Given the description of an element on the screen output the (x, y) to click on. 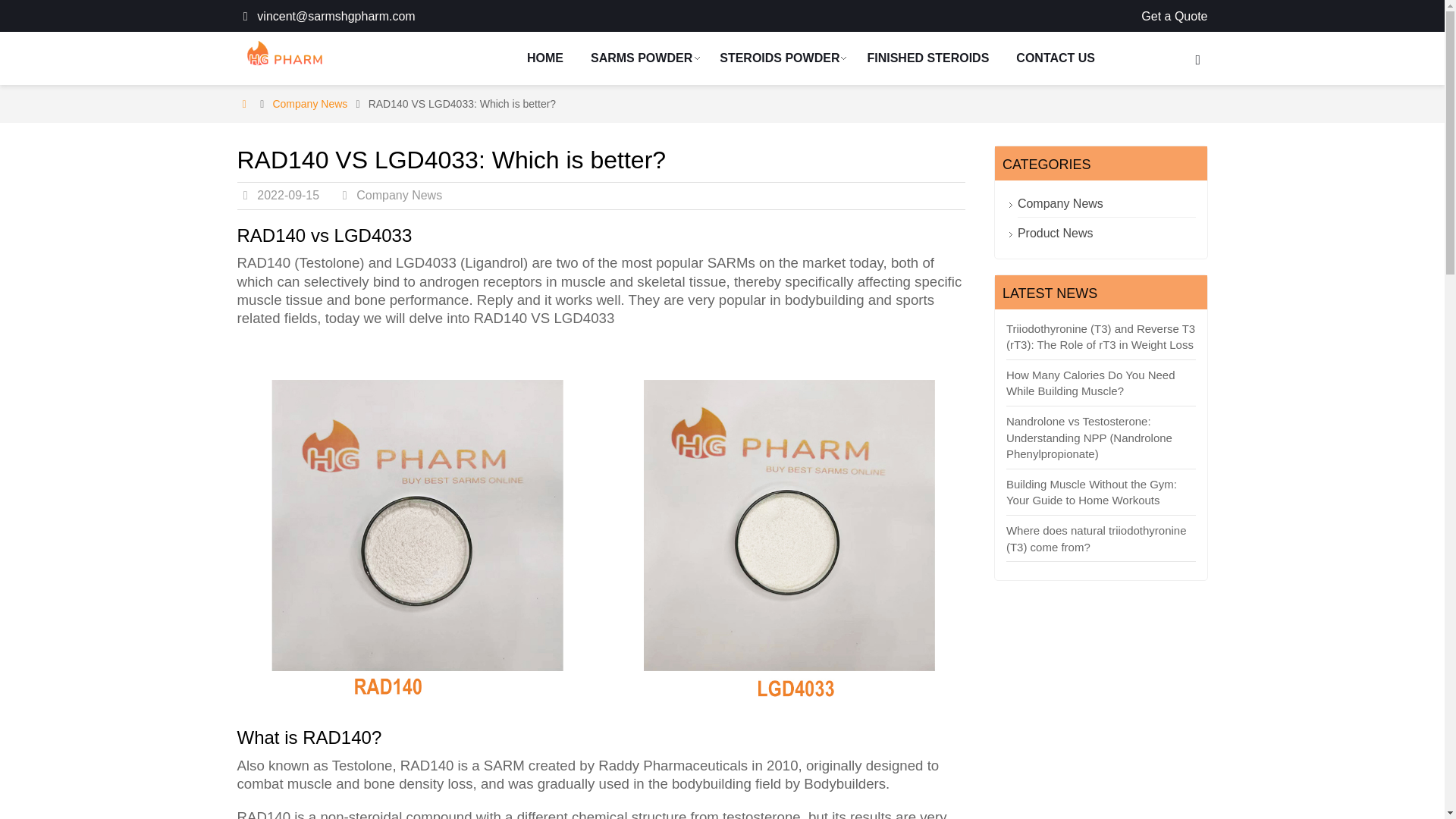
HOME (544, 58)
Company News (399, 195)
CONTACT US (1055, 58)
Get a Quote (1174, 15)
SARMS POWDER (641, 58)
STEROIDS POWDER (779, 58)
Company News (309, 103)
FINISHED STEROIDS (928, 58)
